Given the description of an element on the screen output the (x, y) to click on. 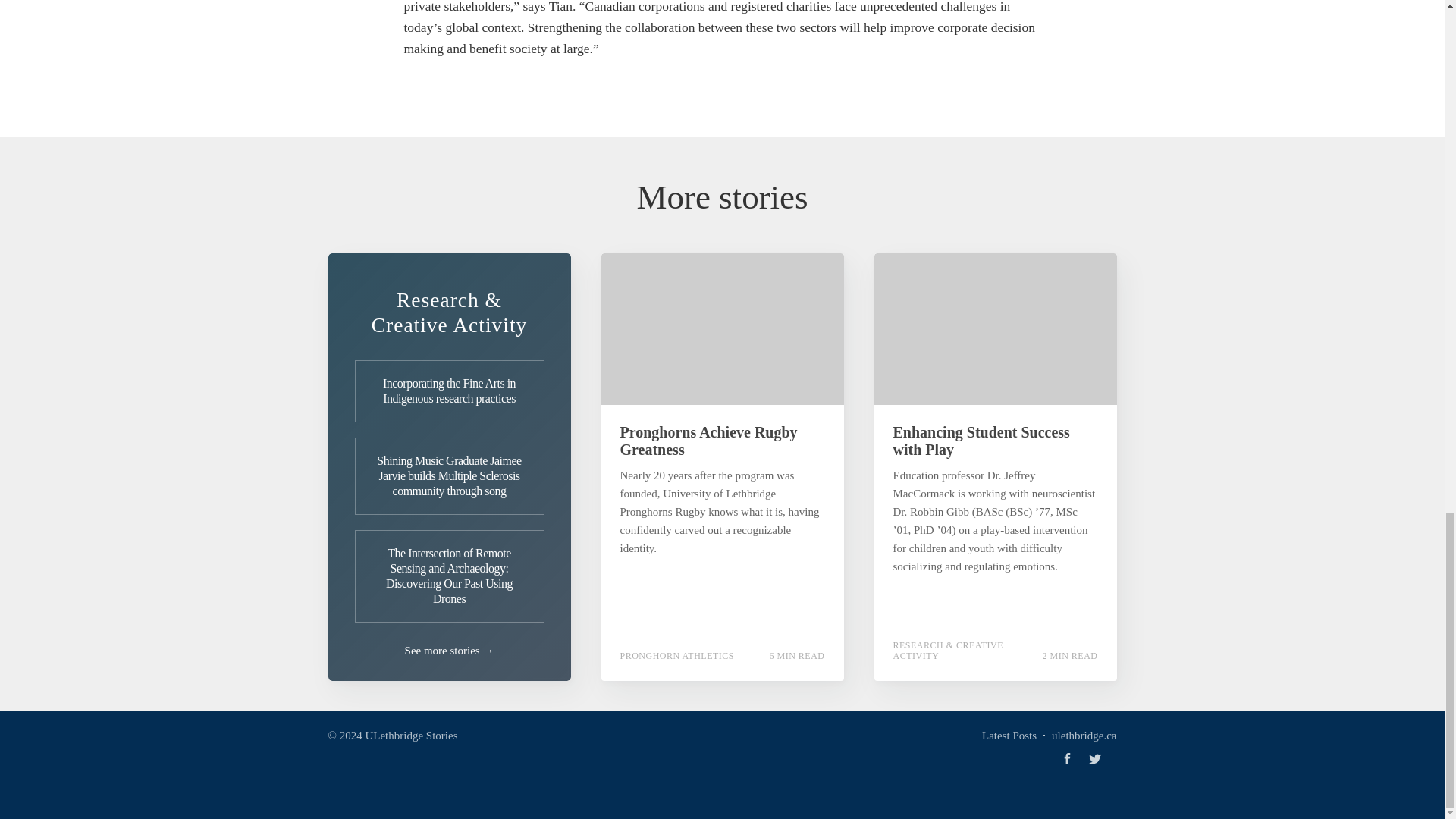
ULethbridge Stories (411, 735)
ulethbridge.ca (1083, 735)
Incorporating the Fine Arts in Indigenous research practices (449, 391)
Latest Posts (1008, 735)
